Given the description of an element on the screen output the (x, y) to click on. 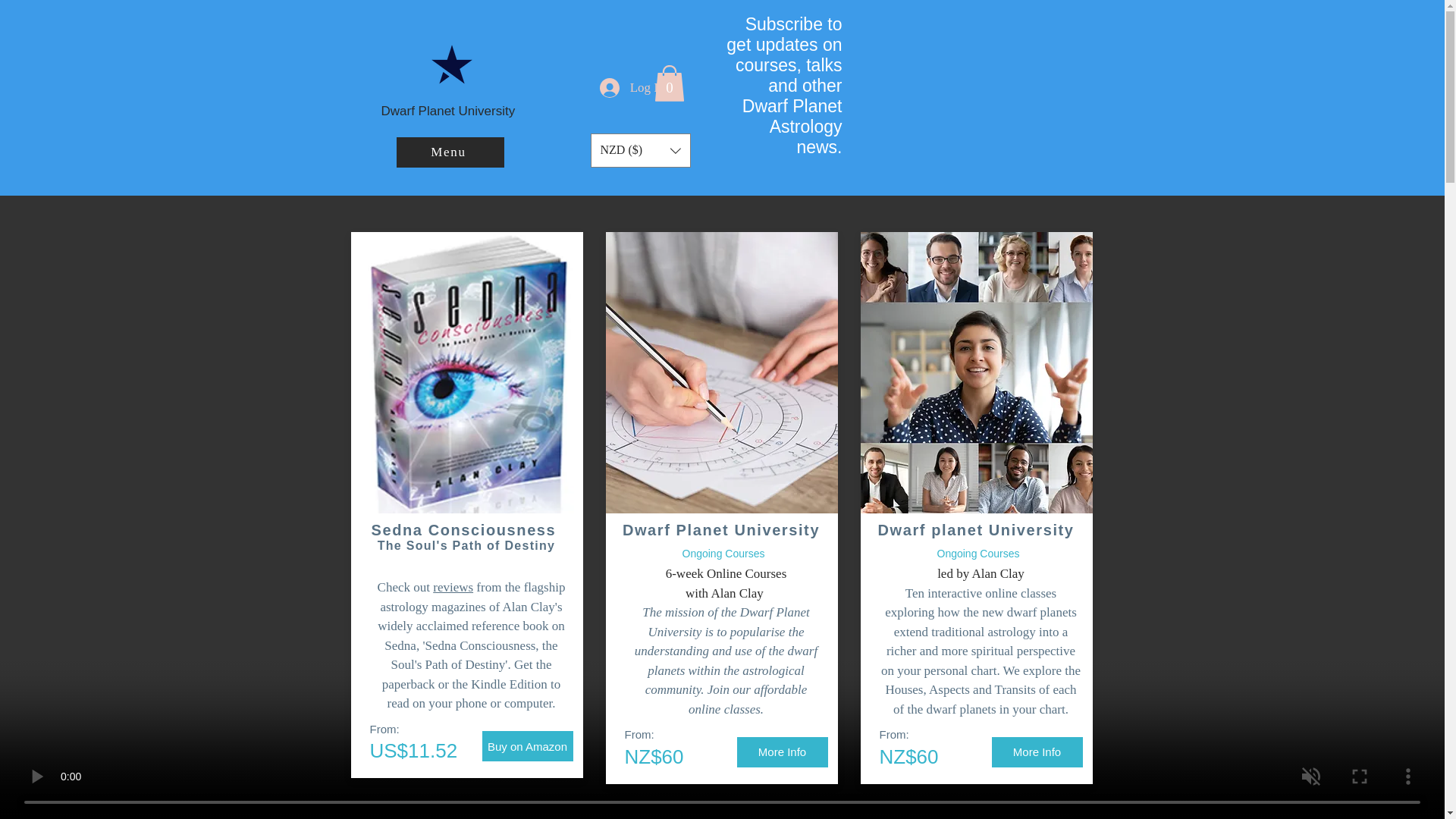
Embedded Content (971, 86)
Log In (632, 87)
Menu (449, 152)
Buy on Amazon (527, 746)
Dwarf Planet University (451, 110)
More Info (782, 752)
More Info (1037, 752)
